Given the description of an element on the screen output the (x, y) to click on. 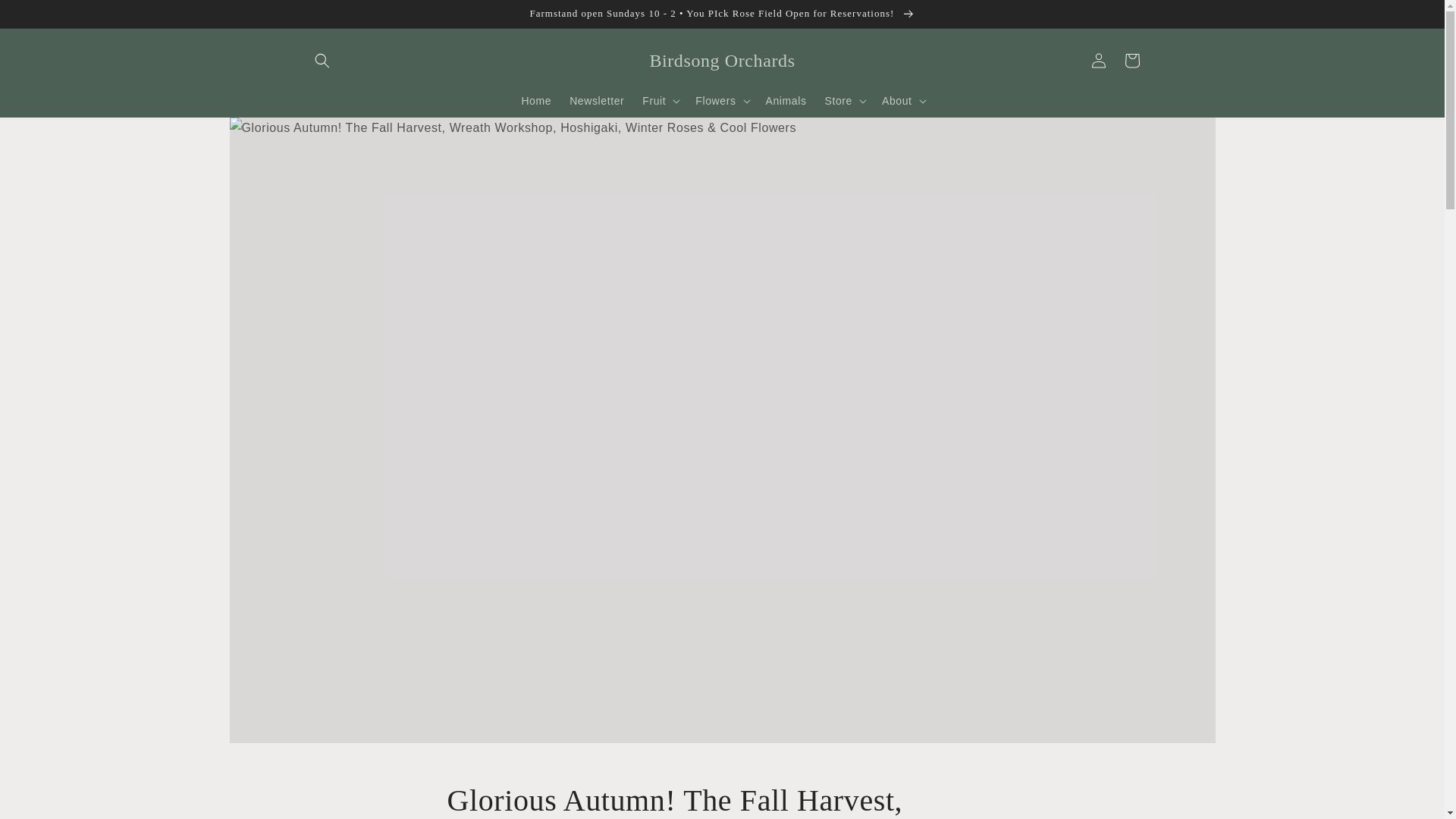
Birdsong Orchards (721, 60)
Newsletter (596, 101)
Skip to content (45, 17)
Home (536, 101)
